Given the description of an element on the screen output the (x, y) to click on. 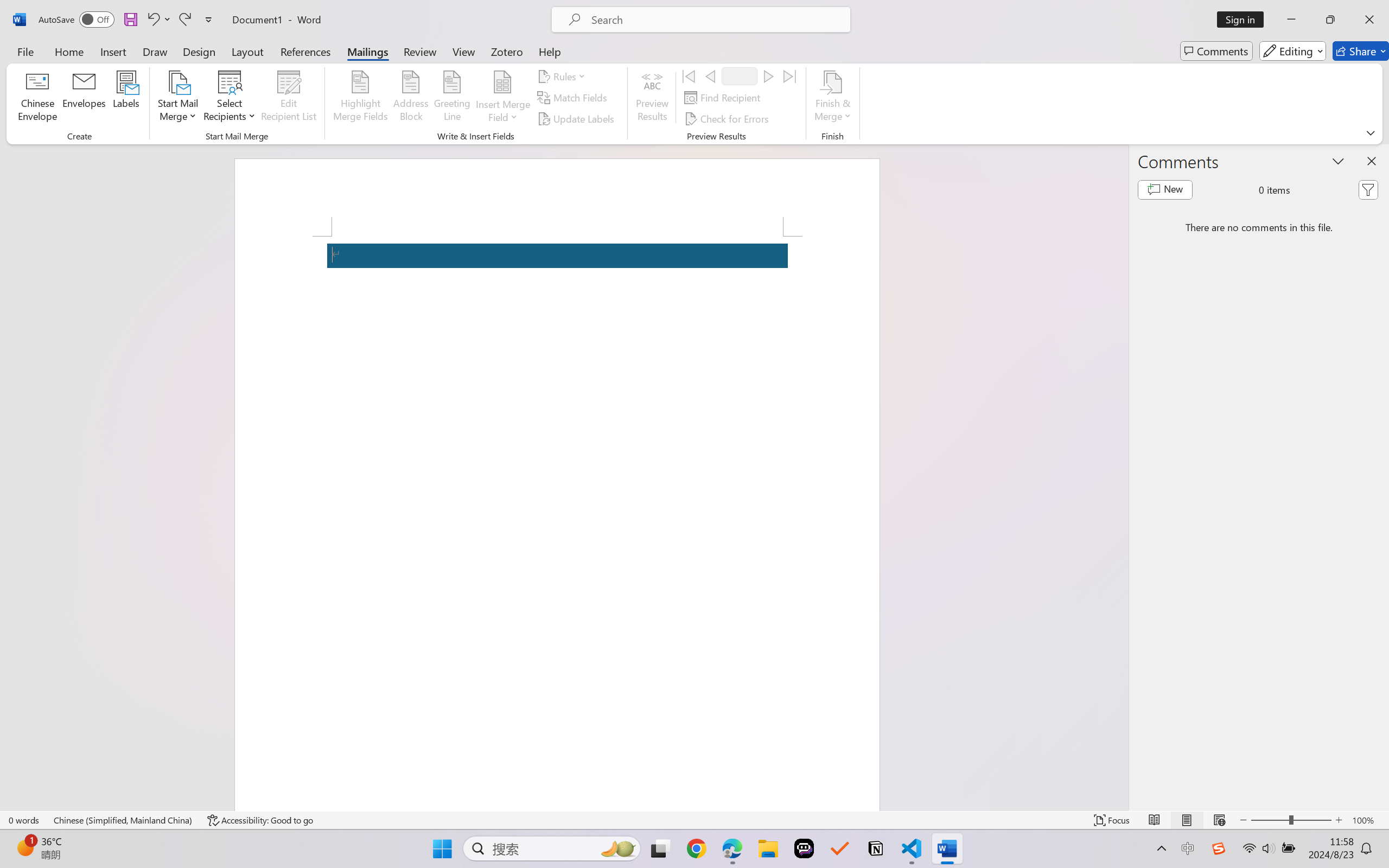
Redo Apply Quick Style (184, 19)
Sign in (1244, 19)
Select Recipients (229, 97)
First (688, 75)
Undo Apply Quick Style Set (152, 19)
Start Mail Merge (177, 97)
Labels... (126, 97)
Check for Errors... (728, 118)
